Given the description of an element on the screen output the (x, y) to click on. 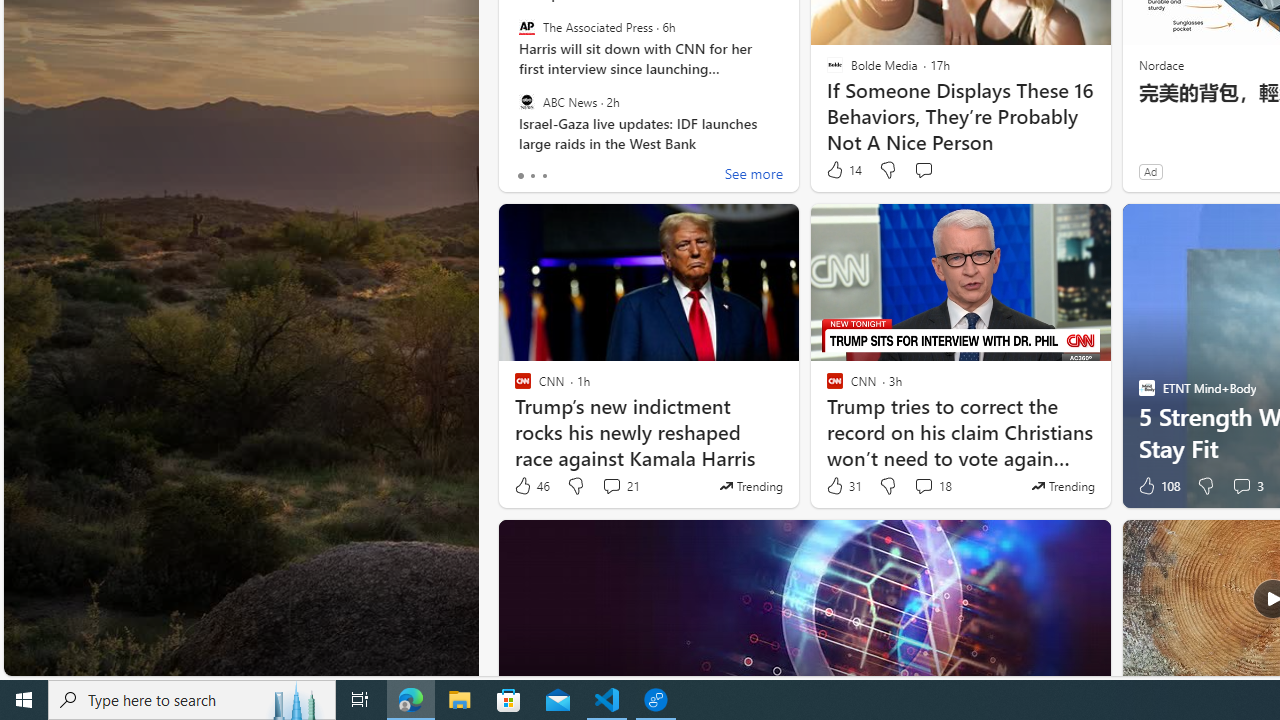
View comments 3 Comment (1241, 485)
This story is trending (1062, 485)
tab-0 (520, 175)
ABC News (526, 101)
The Associated Press (526, 27)
View comments 18 Comment (923, 485)
View comments 21 Comment (611, 485)
14 Like (843, 170)
